Given the description of an element on the screen output the (x, y) to click on. 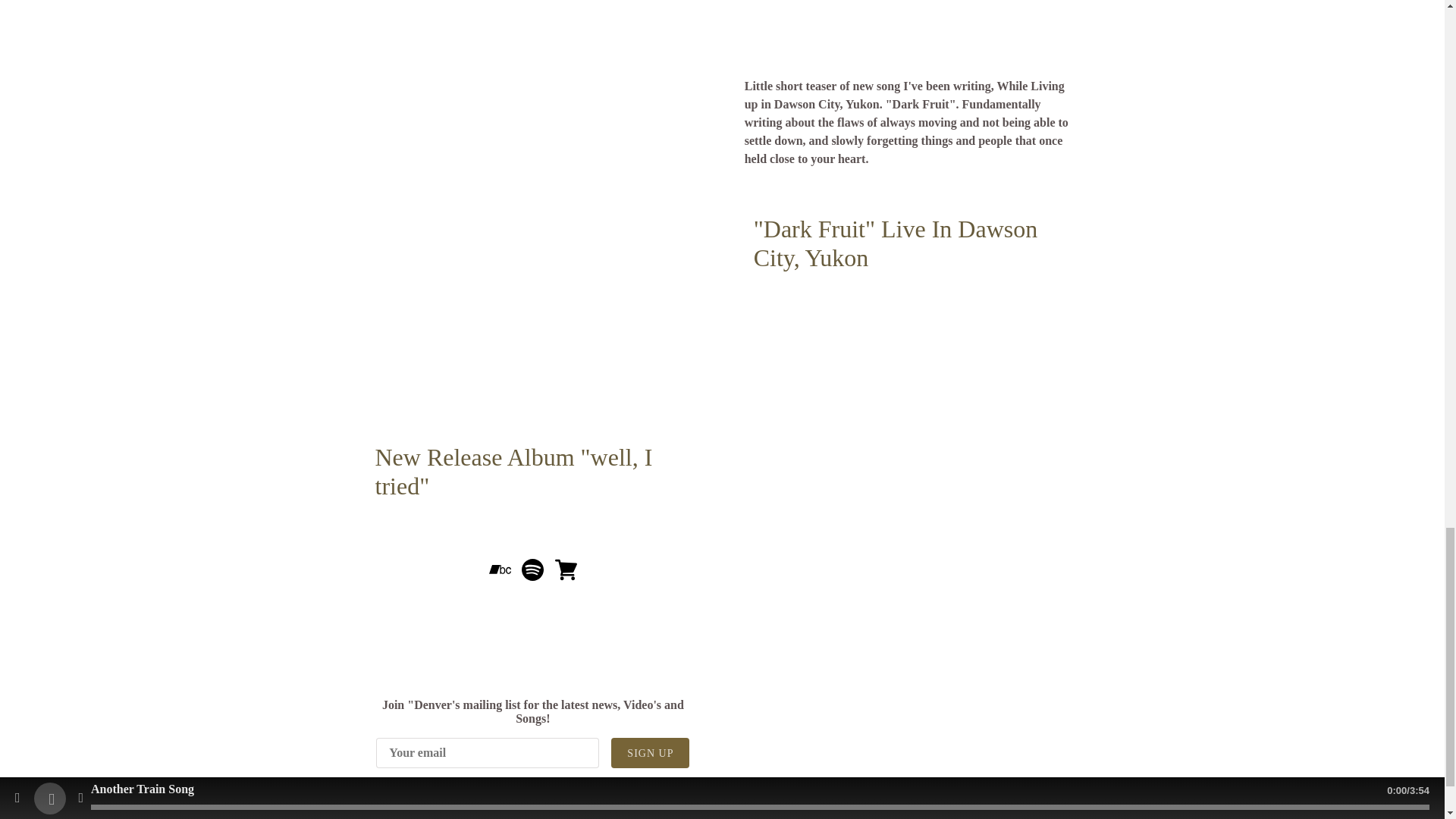
SIGN UP (649, 752)
